Given the description of an element on the screen output the (x, y) to click on. 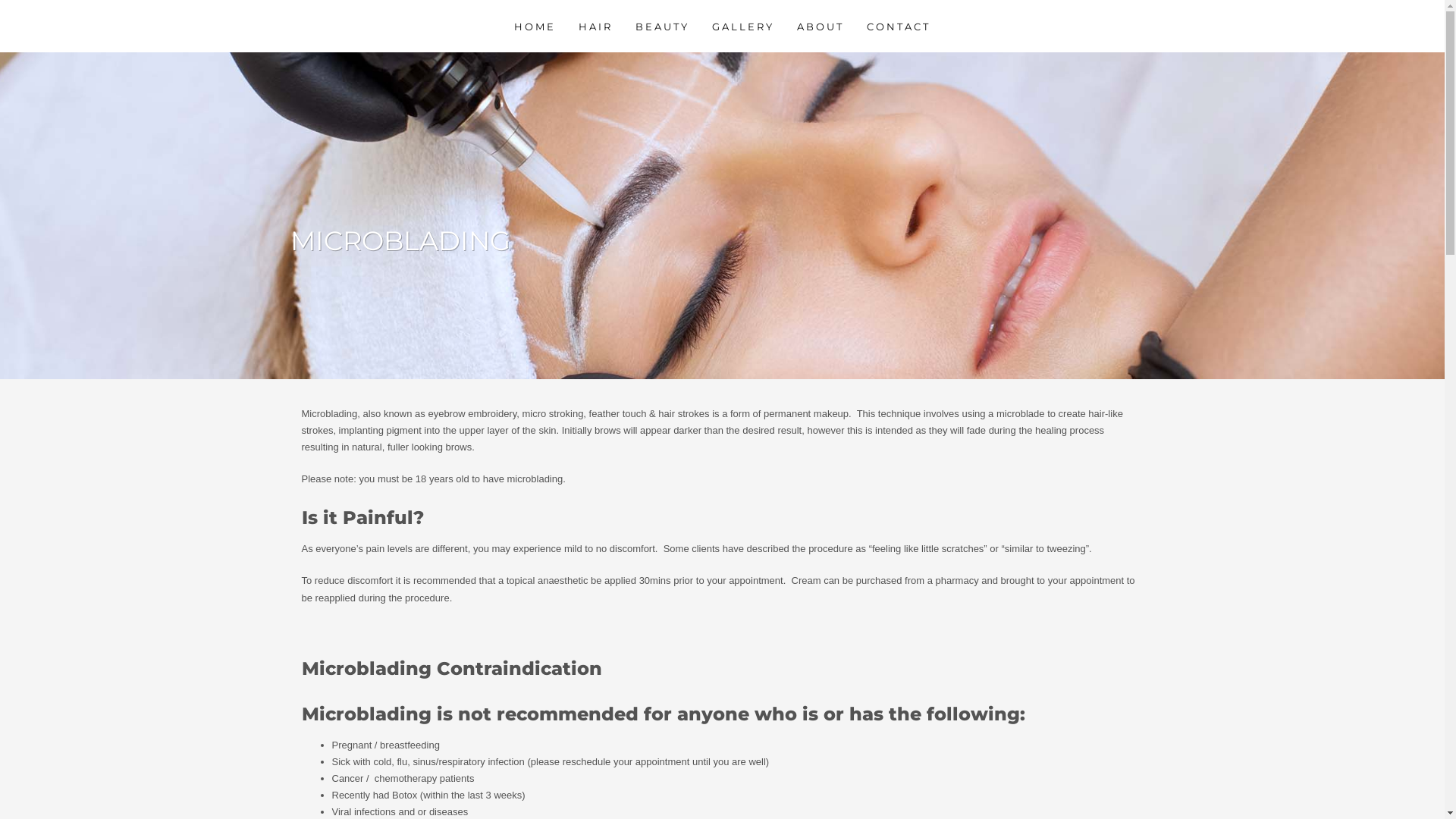
BEAUTY Element type: text (662, 25)
HOME Element type: text (534, 25)
ABOUT Element type: text (820, 25)
CONTACT Element type: text (898, 25)
GALLERY Element type: text (742, 25)
HAIR Element type: text (595, 25)
